Given the description of an element on the screen output the (x, y) to click on. 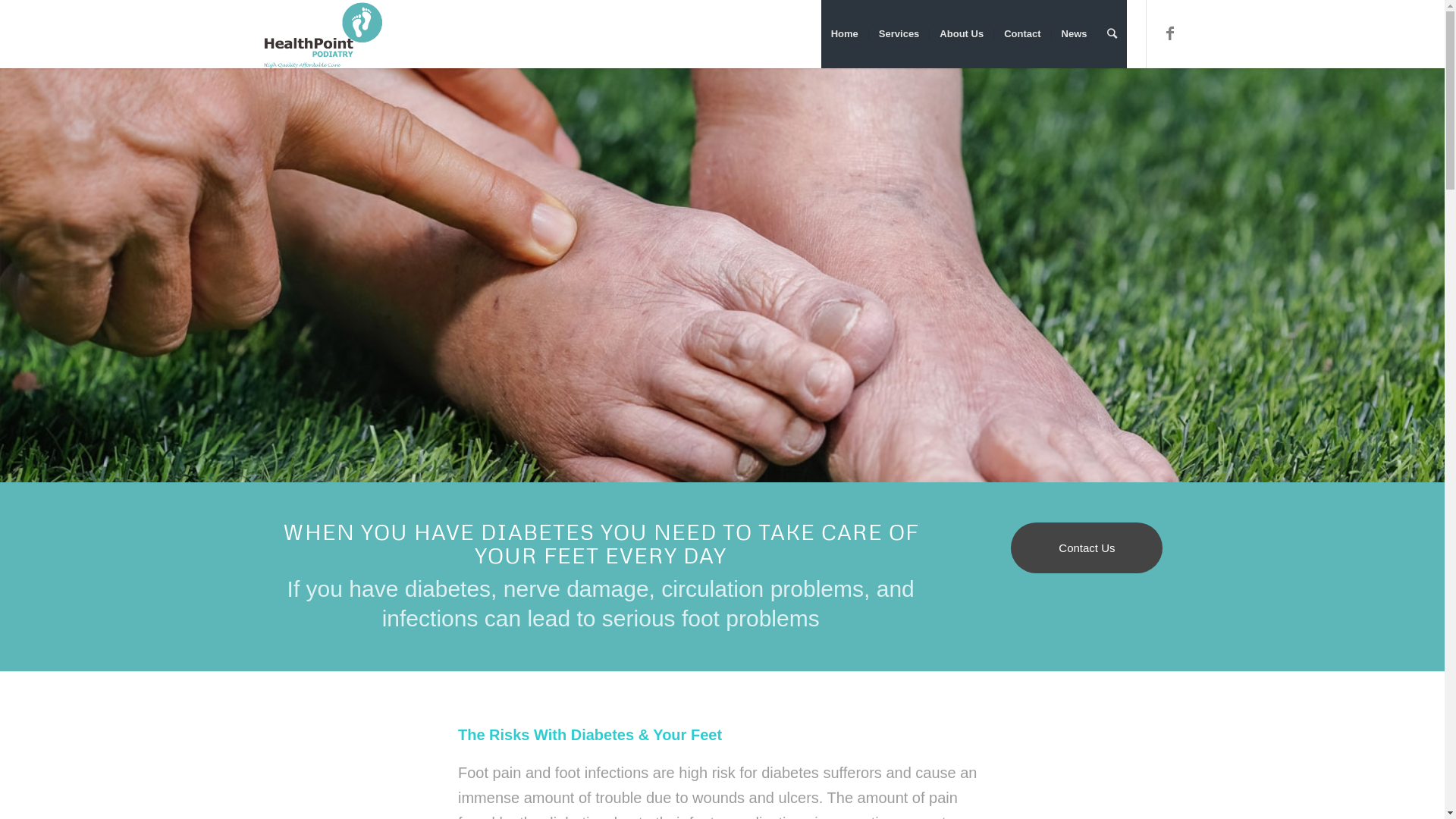
Contact Us Element type: text (1086, 547)
Facebook Element type: hover (1169, 32)
About Us Element type: text (960, 34)
Services Element type: text (898, 34)
Contact Element type: text (1021, 34)
Home Element type: text (844, 34)
Podiatrist Clinic For Diabetic Patients Element type: hover (722, 275)
News Element type: text (1074, 34)
